Given the description of an element on the screen output the (x, y) to click on. 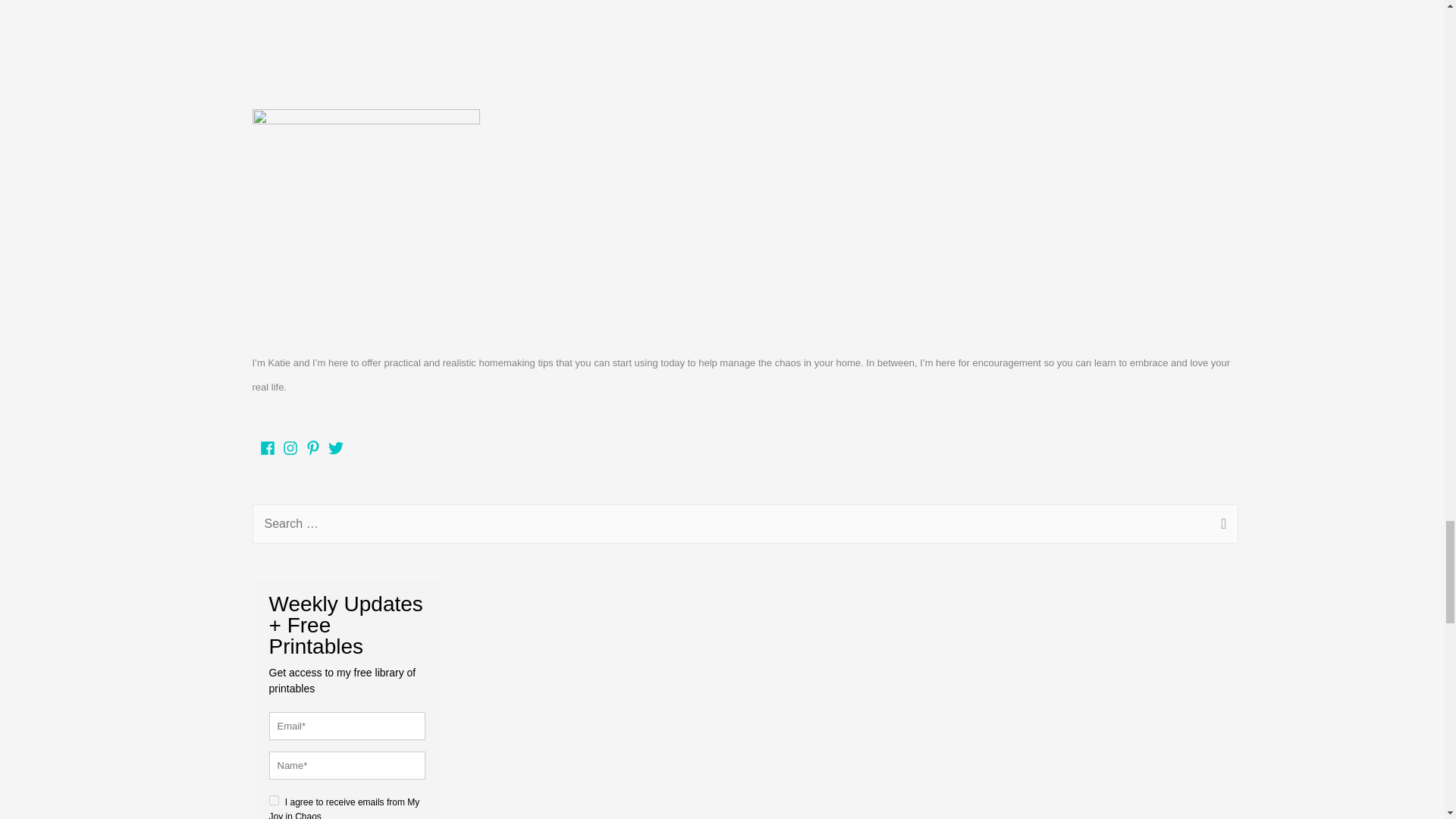
Search (1221, 525)
Search (1221, 525)
on (272, 800)
